Given the description of an element on the screen output the (x, y) to click on. 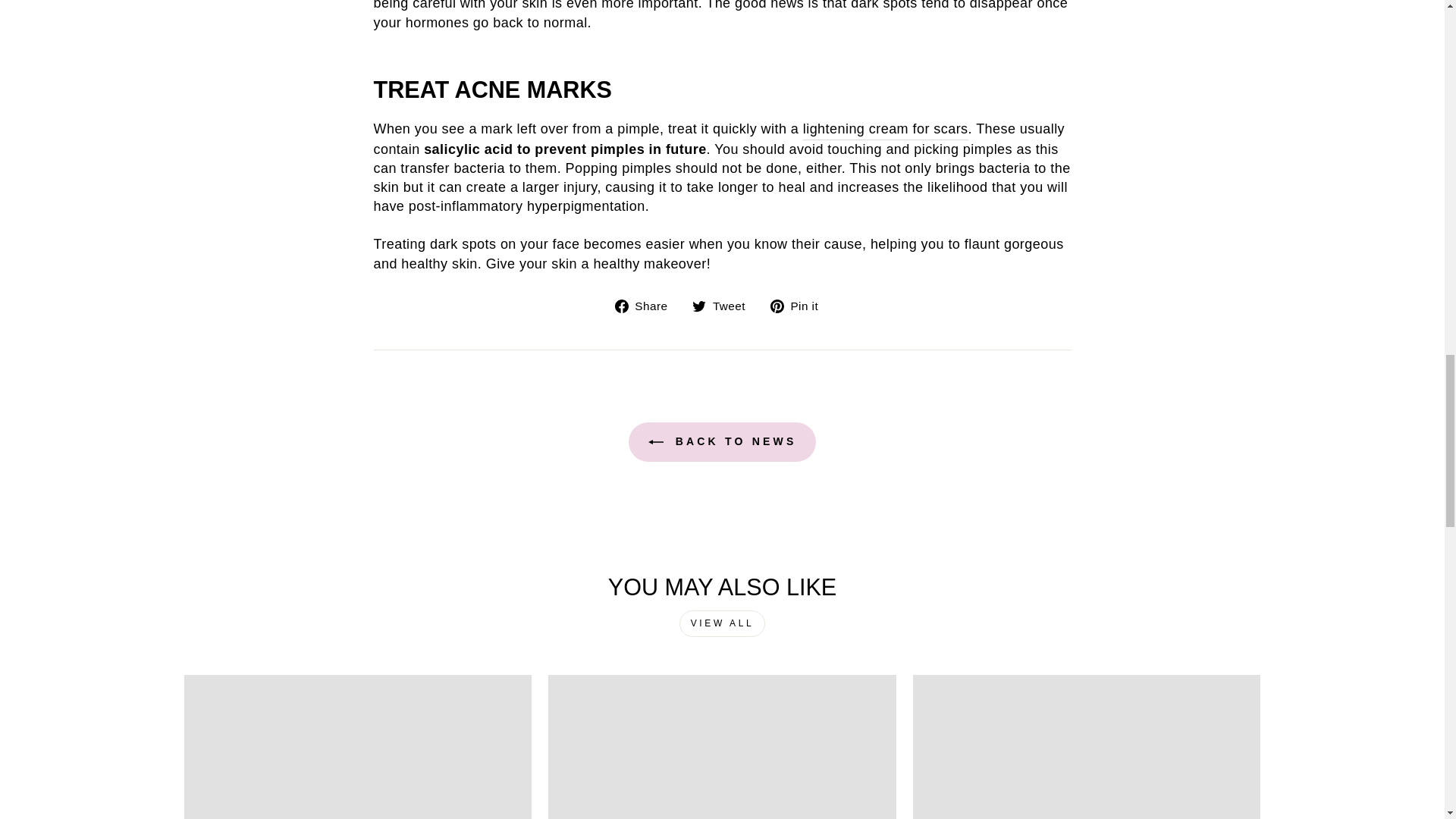
Pin on Pinterest (799, 305)
twitter (699, 305)
Share on Facebook (646, 305)
ICON-LEFT-ARROW (655, 441)
Tweet on Twitter (725, 305)
